Given the description of an element on the screen output the (x, y) to click on. 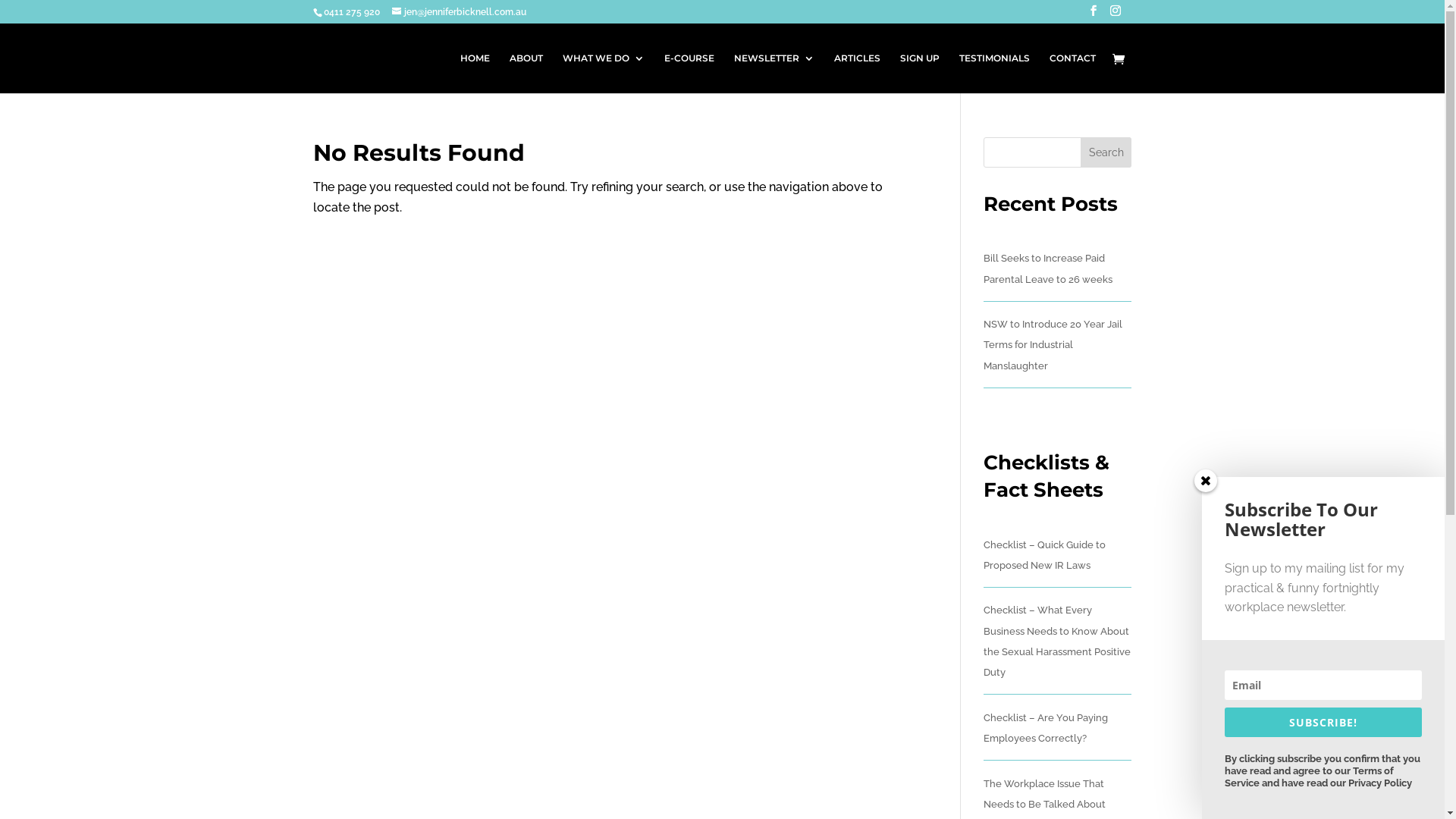
ABOUT Element type: text (525, 73)
SIGN UP Element type: text (918, 73)
SUBSCRIBE! Element type: text (1322, 722)
NEWSLETTER Element type: text (774, 73)
CONTACT Element type: text (1072, 73)
Bill Seeks to Increase Paid Parental Leave to 26 weeks Element type: text (1047, 268)
The Workplace Issue That Needs to Be Talked About Element type: text (1044, 793)
WHAT WE DO Element type: text (603, 73)
ARTICLES Element type: text (857, 73)
jen@jenniferbicknell.com.au Element type: text (458, 11)
E-COURSE Element type: text (689, 73)
TESTIMONIALS Element type: text (993, 73)
HOME Element type: text (474, 73)
Search Element type: text (1106, 152)
